Given the description of an element on the screen output the (x, y) to click on. 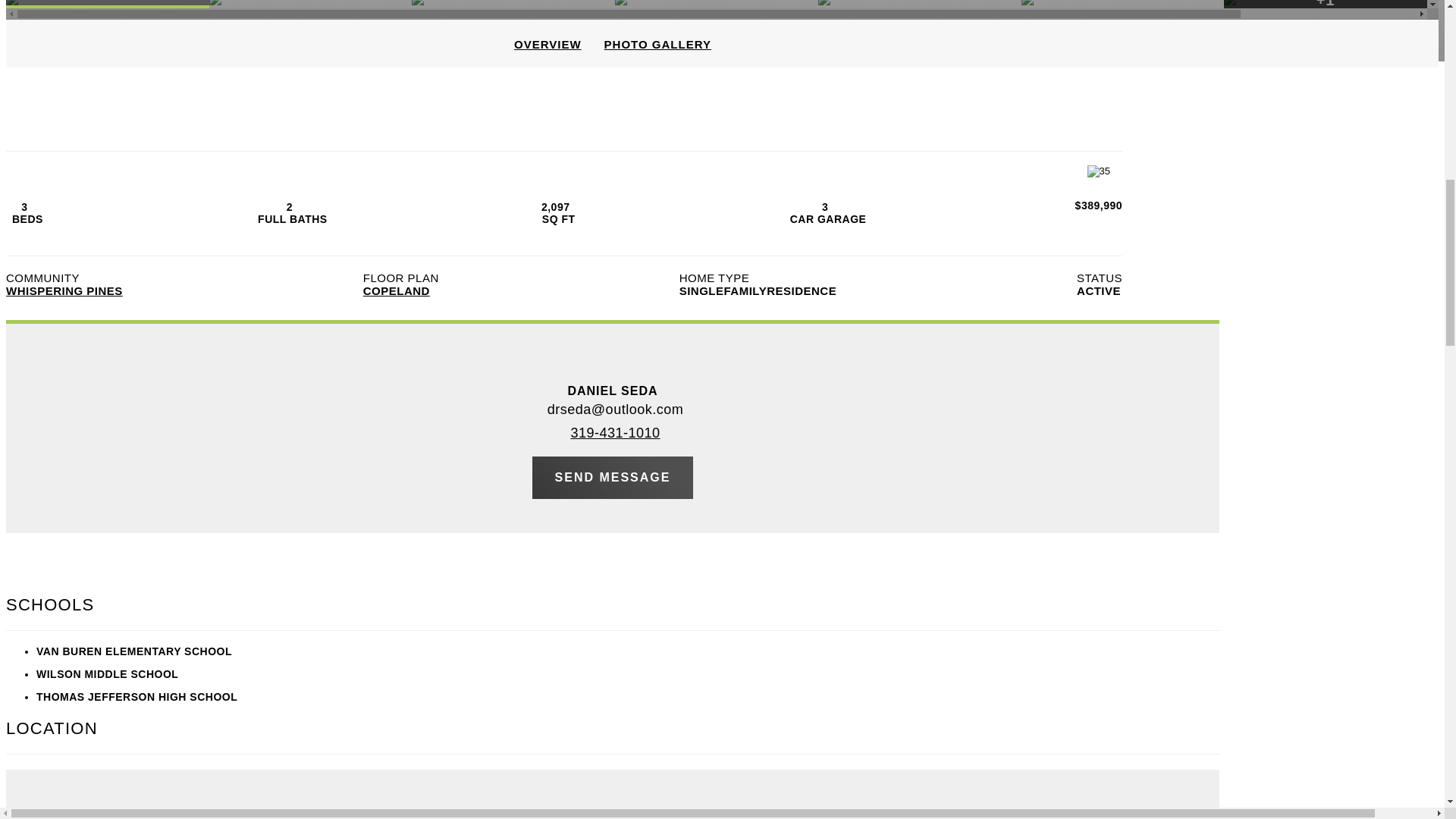
319-431-1010 (611, 433)
WHISPERING PINES (63, 290)
COPELAND (395, 290)
PHOTO GALLERY (657, 43)
OVERVIEW (547, 43)
